Given the description of an element on the screen output the (x, y) to click on. 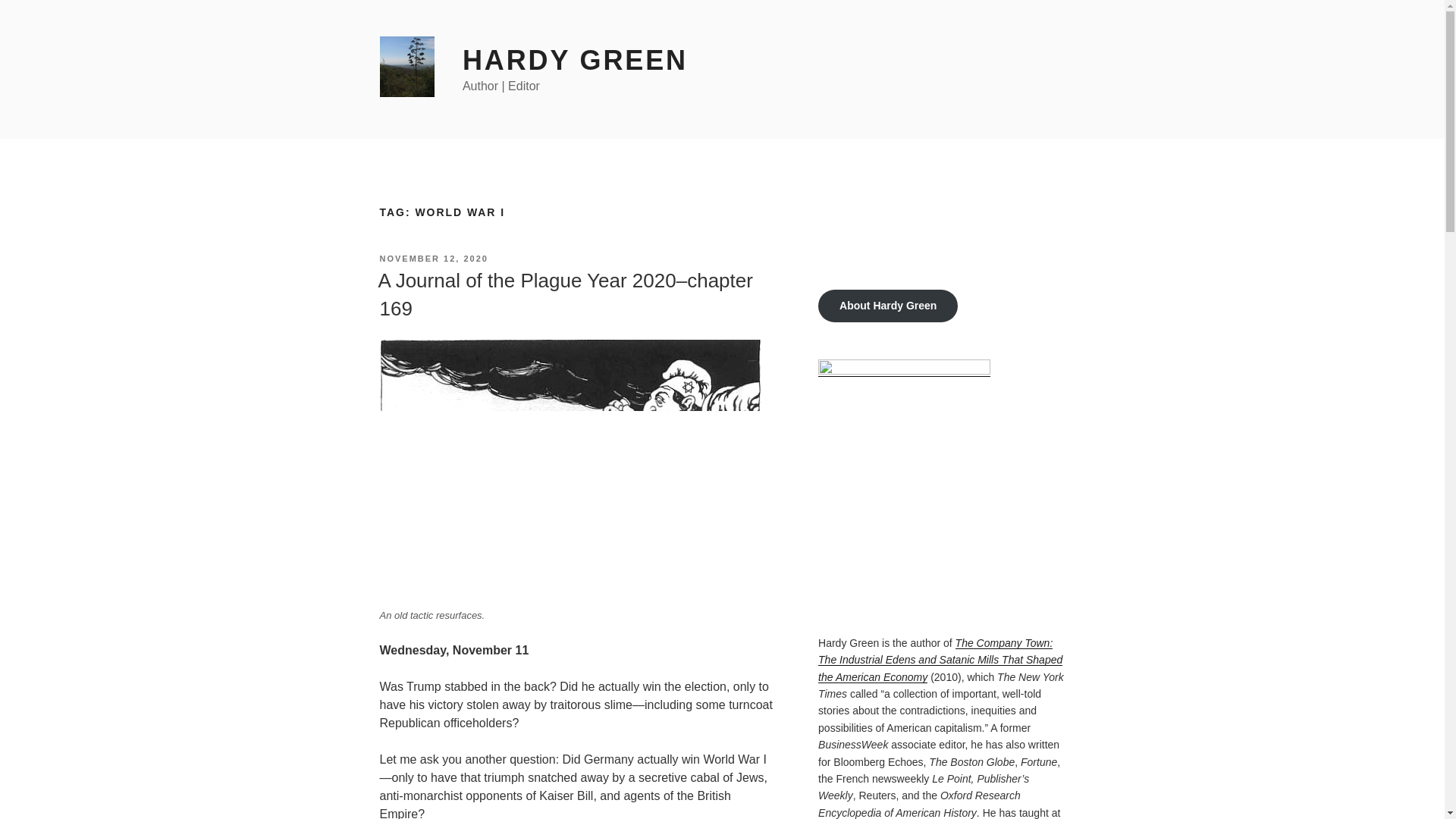
About Hardy Green (888, 305)
HARDY GREEN (575, 60)
NOVEMBER 12, 2020 (432, 257)
